Given the description of an element on the screen output the (x, y) to click on. 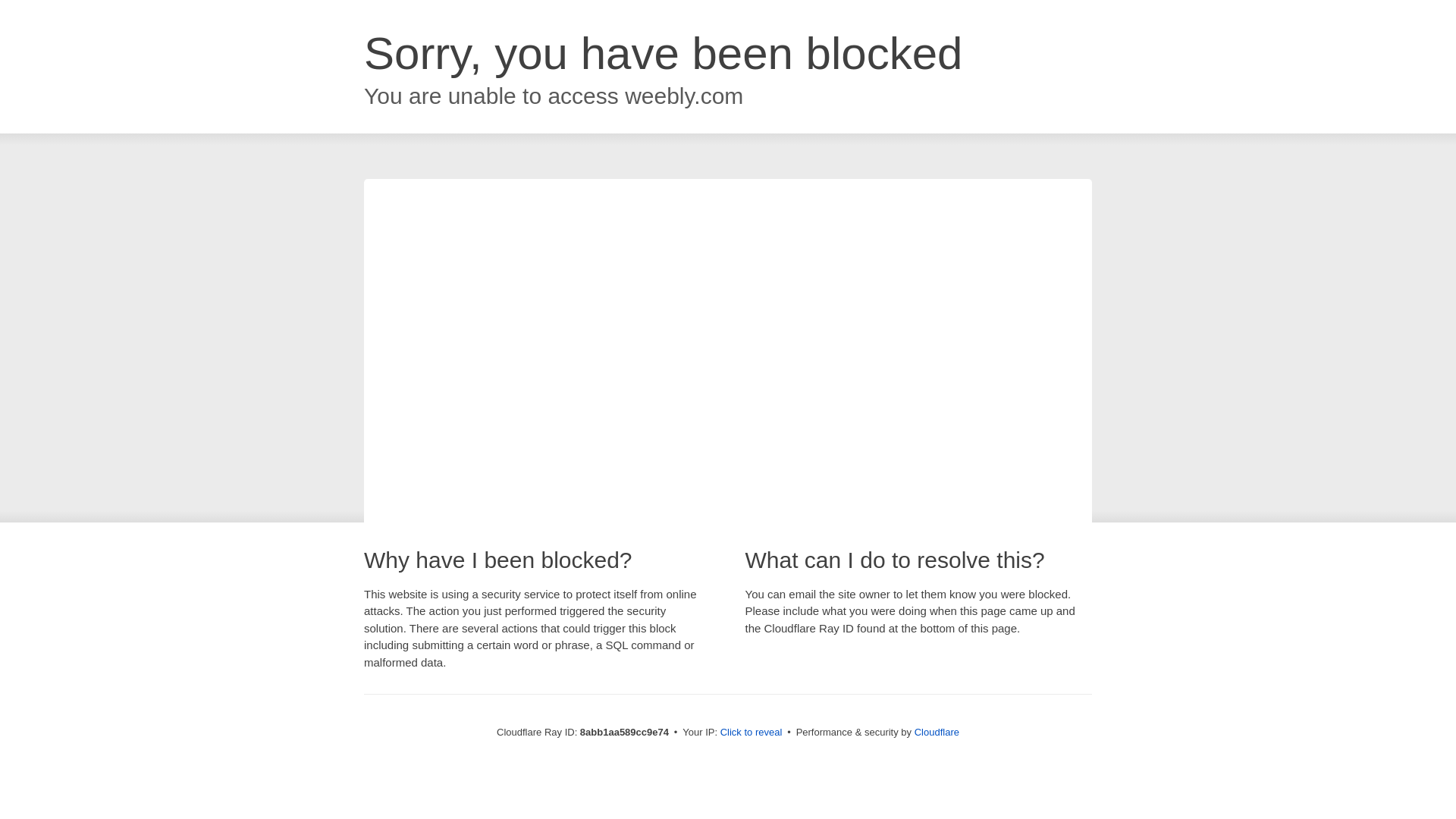
Cloudflare (936, 731)
Click to reveal (751, 732)
